Given the description of an element on the screen output the (x, y) to click on. 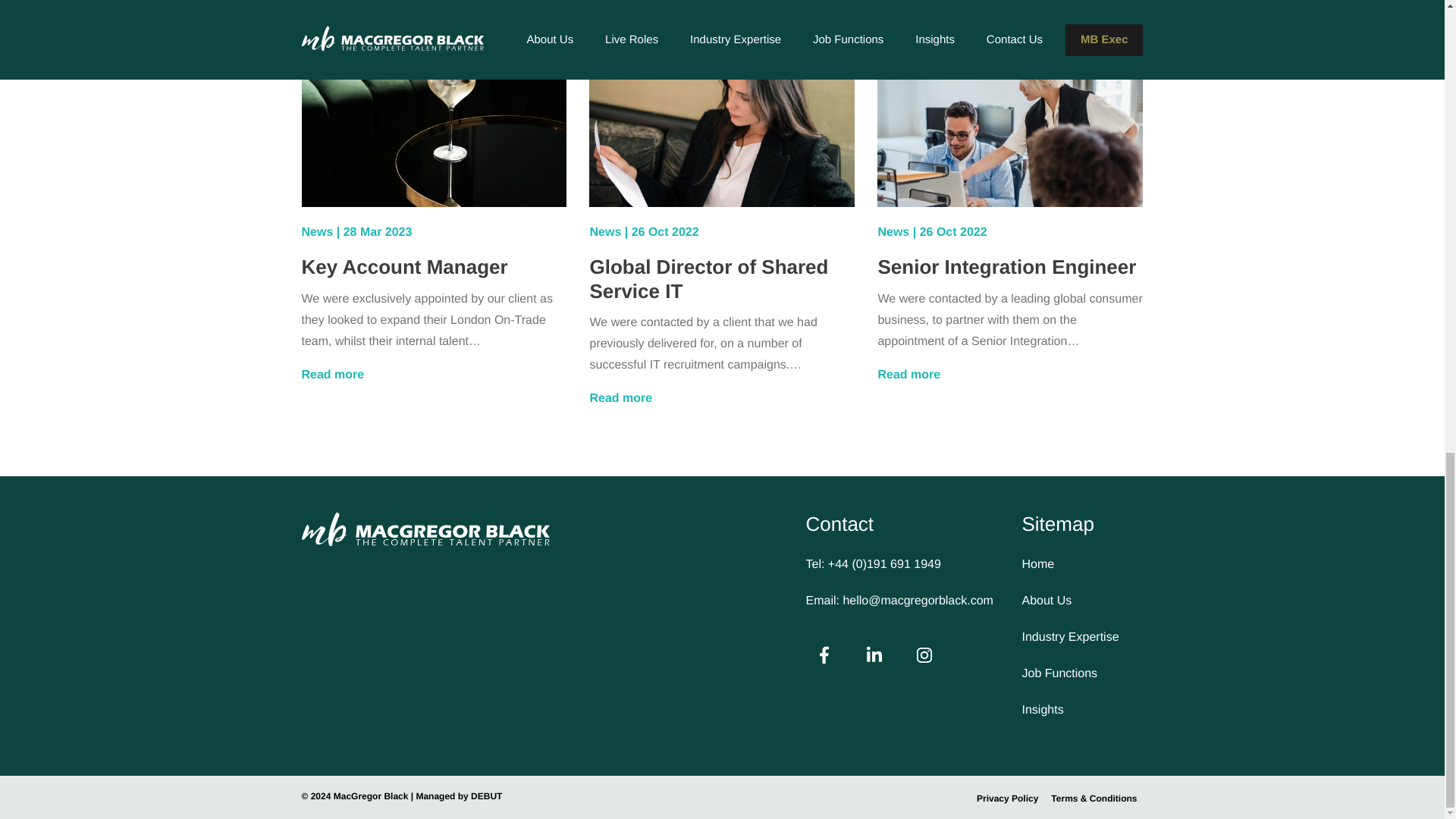
Job Functions (1082, 673)
Job Functions (1082, 673)
About Us (1082, 600)
About Us (1082, 600)
Insights (1082, 710)
Insights (1082, 710)
Home (1082, 564)
Industry Expertise (1082, 637)
Managed by DEBUT (458, 796)
Privacy Policy (1007, 798)
Privacy Policy (1007, 798)
Home (1082, 564)
Industry Expertise (1082, 637)
